Given the description of an element on the screen output the (x, y) to click on. 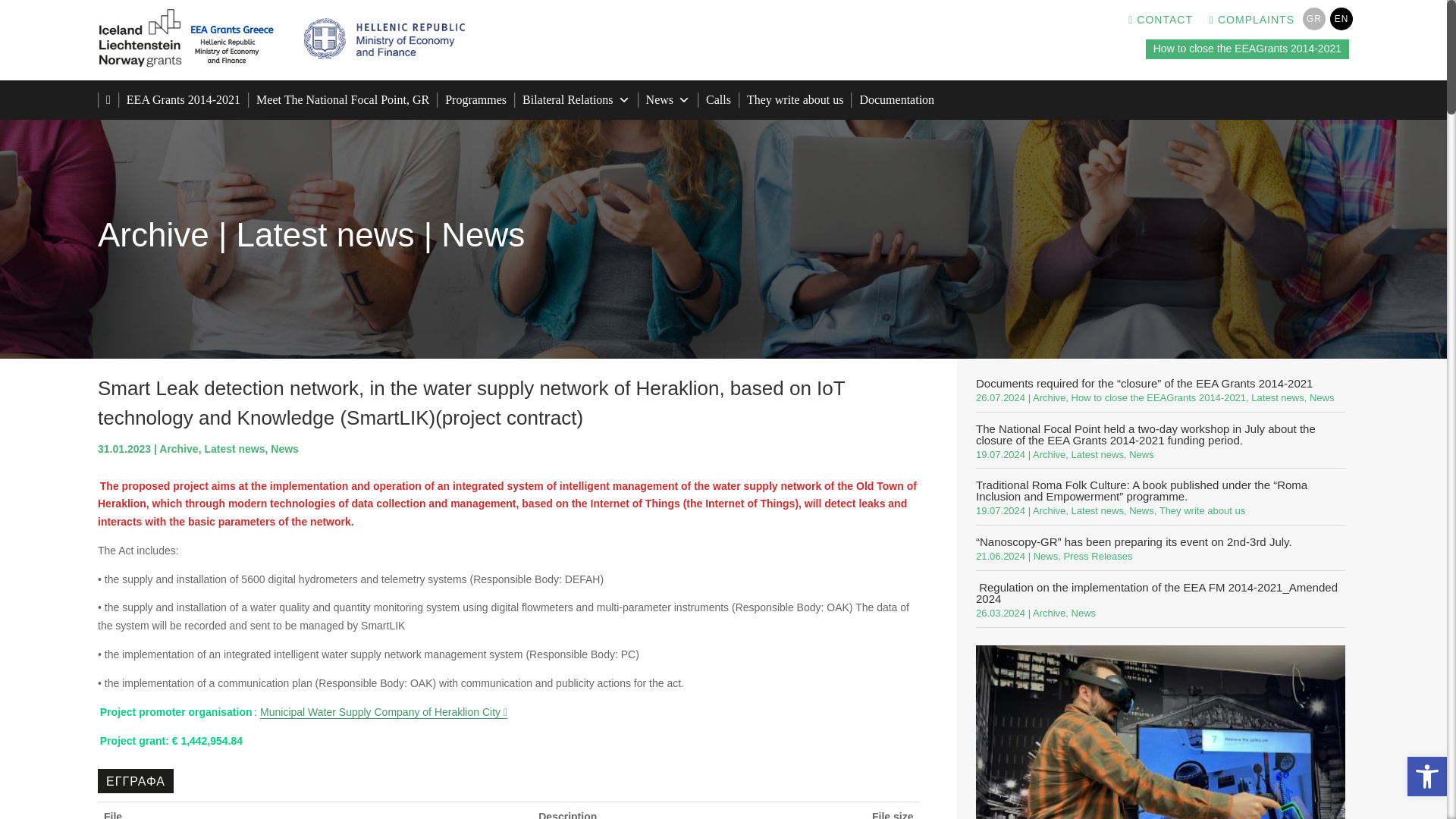
News (284, 449)
CONTACT (1160, 22)
Archive (178, 449)
EN (1341, 18)
Programmes (475, 99)
Archive (153, 234)
Meet The National Focal Point, GR (342, 99)
Bilateral Relations (576, 99)
EN (1341, 18)
Municipal Water Supply Company of Heraklion City (383, 712)
